Given the description of an element on the screen output the (x, y) to click on. 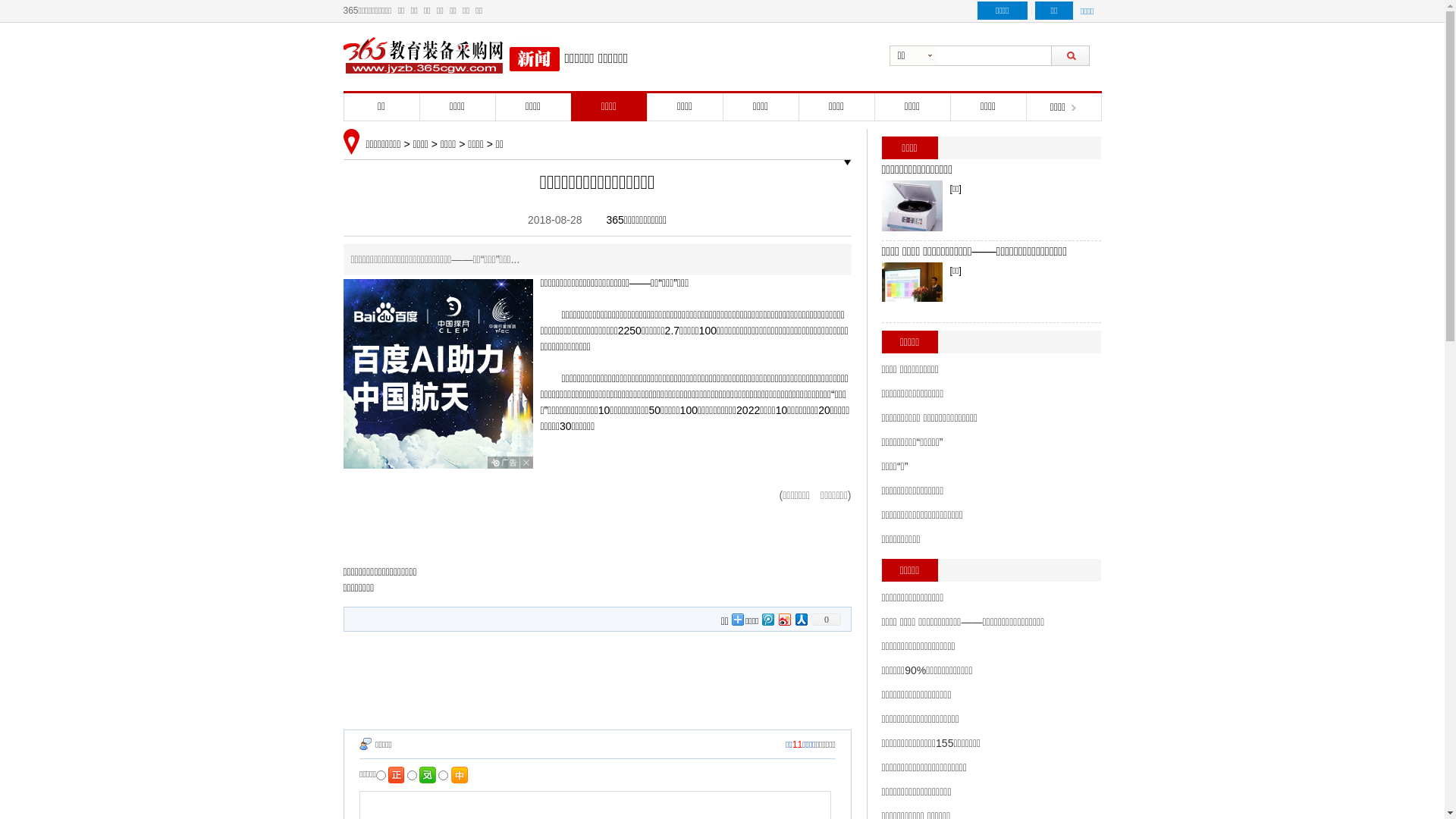
0 Element type: text (824, 619)
